Given the description of an element on the screen output the (x, y) to click on. 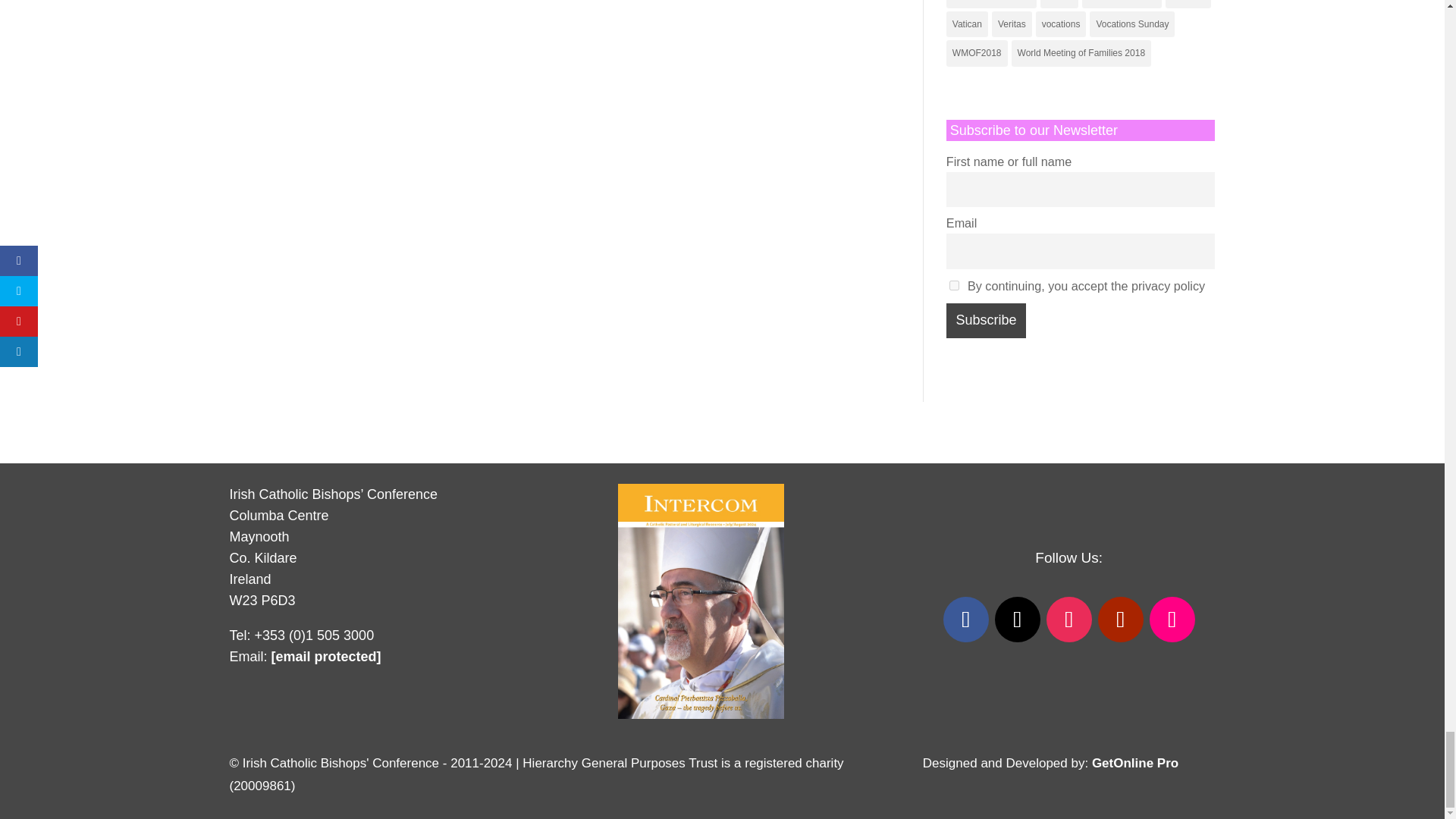
Subscribe (986, 320)
on (954, 285)
Follow on Flickr (1172, 619)
Follow on Facebook (965, 619)
Follow on Instagram (1069, 619)
Follow on X (1017, 619)
Follow on Youtube (1119, 619)
